Given the description of an element on the screen output the (x, y) to click on. 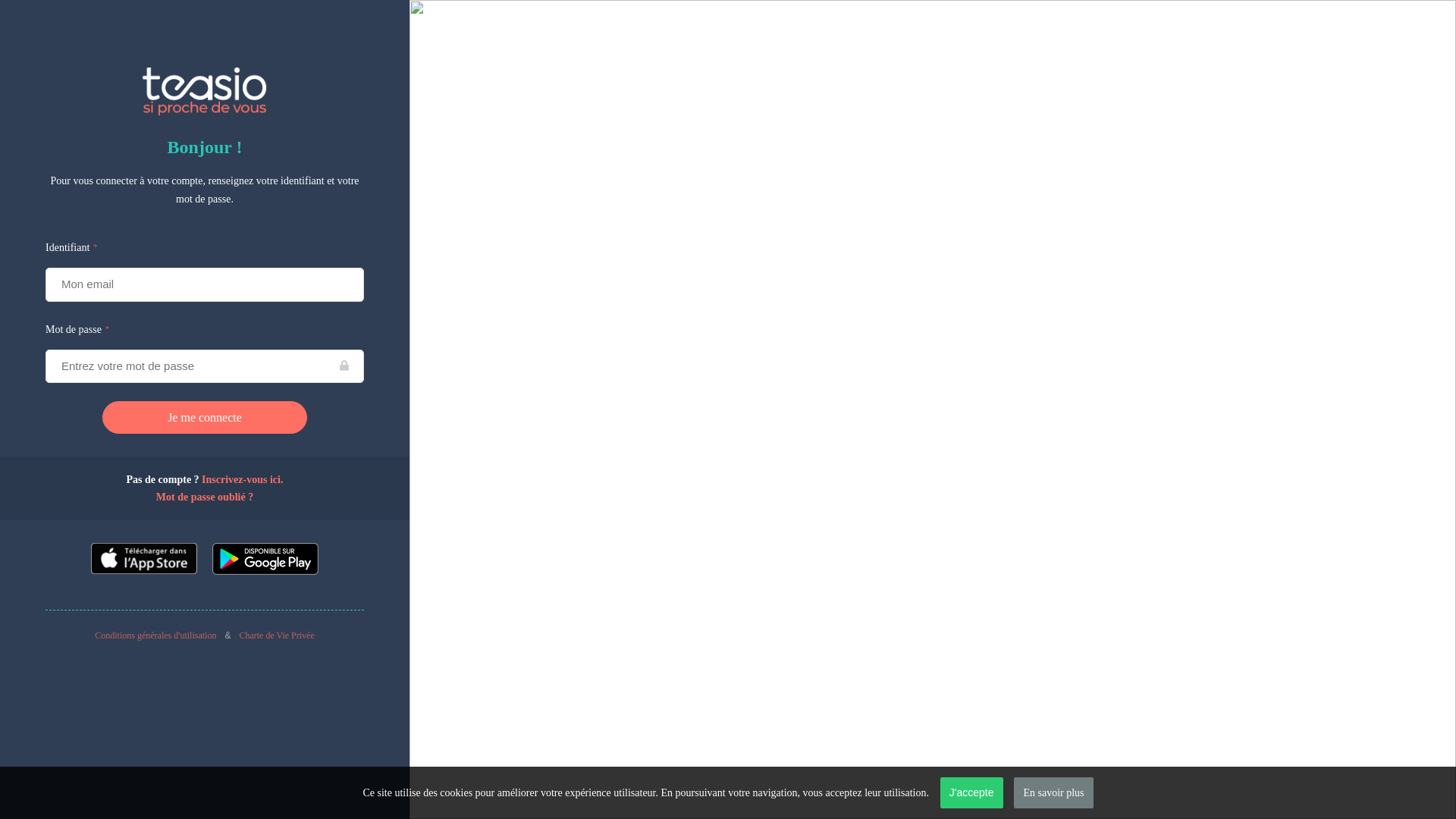
Inscrivez-vous ici. Element type: text (241, 479)
Je me connecte Element type: text (204, 417)
En savoir plus Element type: text (1052, 792)
J'accepte Element type: text (971, 792)
